Given the description of an element on the screen output the (x, y) to click on. 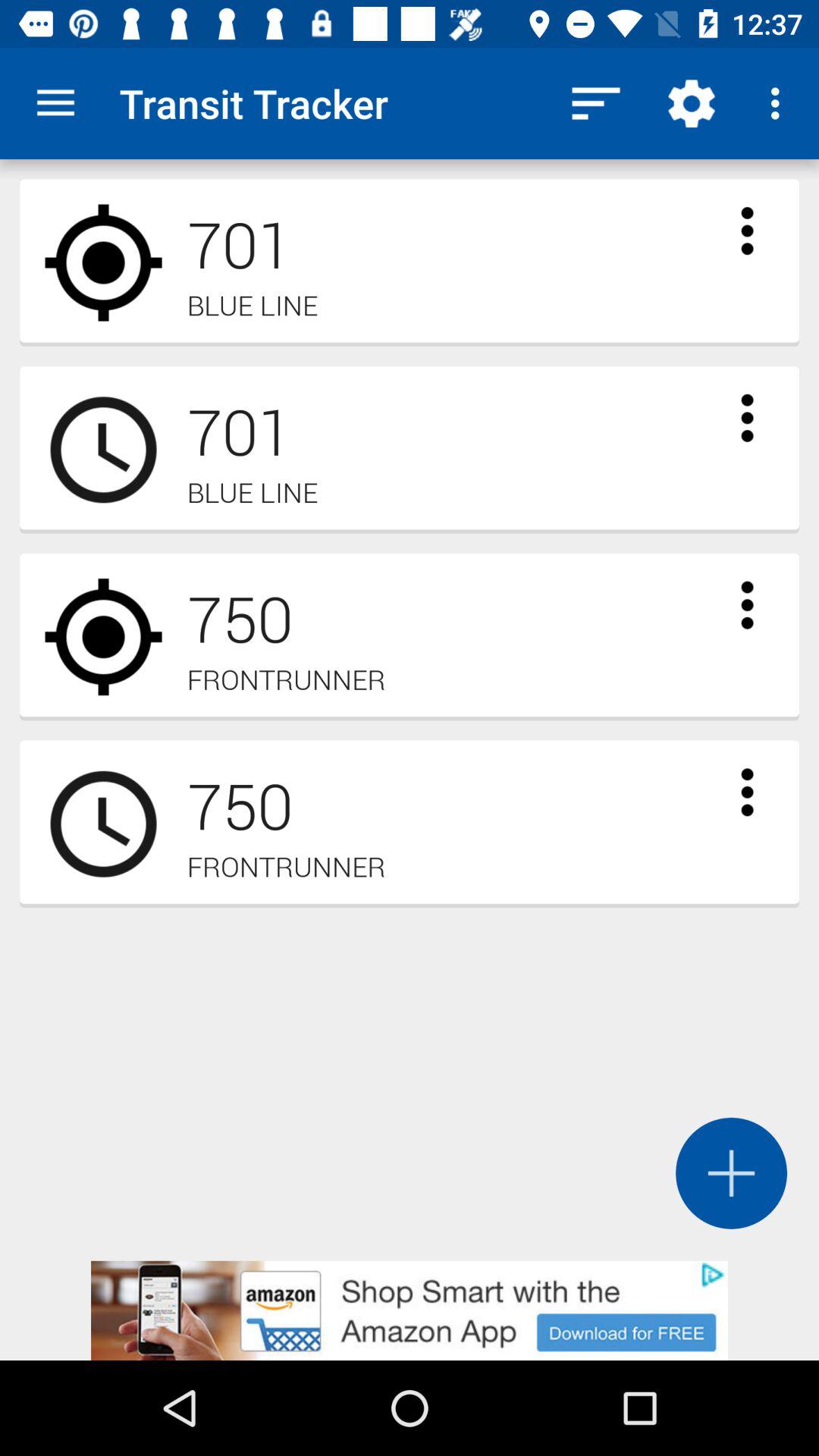
advertisement (409, 1310)
